Given the description of an element on the screen output the (x, y) to click on. 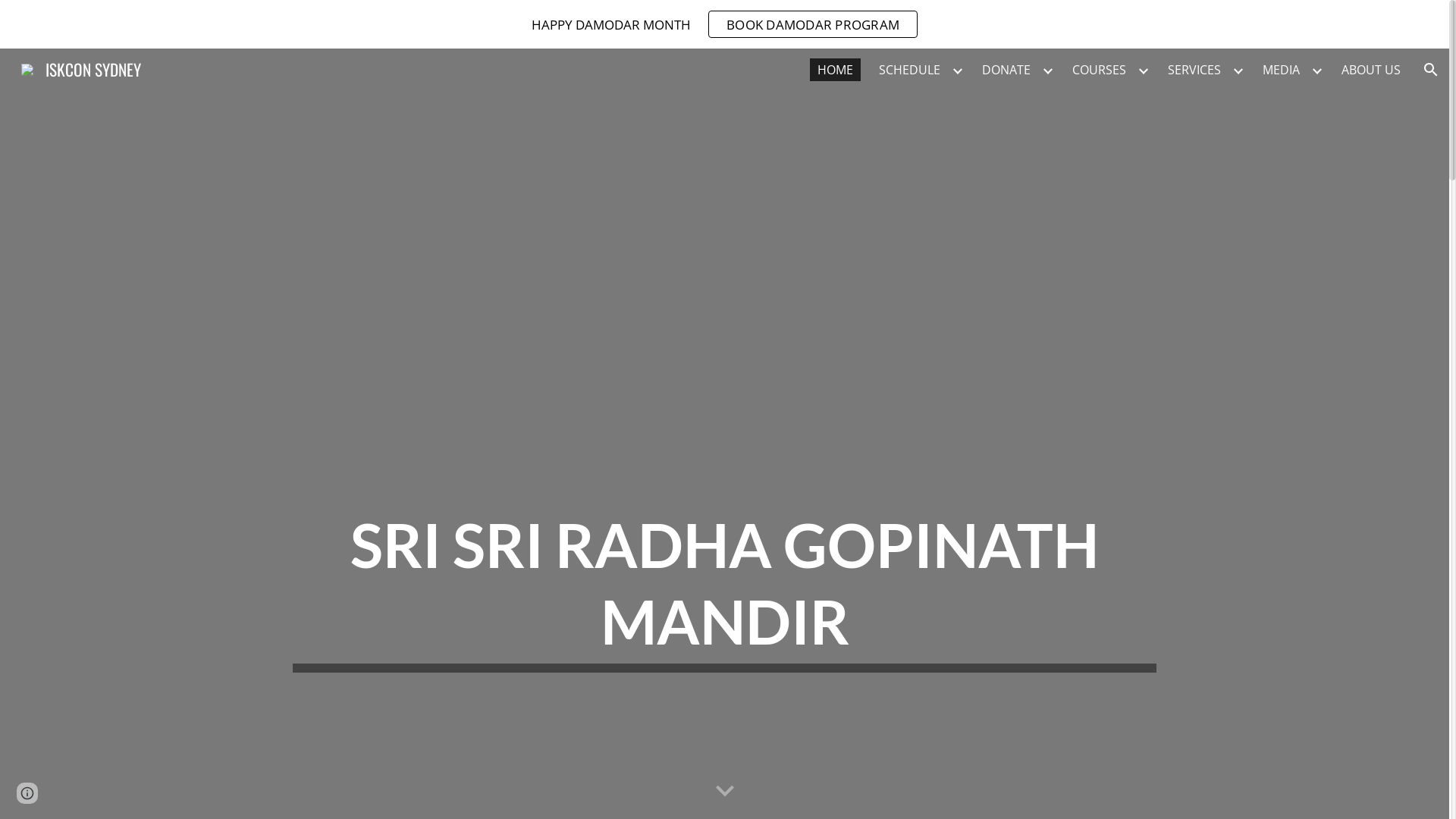
Expand/Collapse Element type: hover (956, 69)
Expand/Collapse Element type: hover (1316, 69)
SERVICES Element type: text (1194, 69)
ISKCON SYDNEY Element type: text (81, 66)
Expand/Collapse Element type: hover (1047, 69)
COURSES Element type: text (1098, 69)
Expand/Collapse Element type: hover (1237, 69)
Expand/Collapse Element type: hover (1142, 69)
HOME Element type: text (834, 69)
SCHEDULE Element type: text (909, 69)
MEDIA Element type: text (1281, 69)
DONATE Element type: text (1006, 69)
ABOUT US Element type: text (1370, 69)
BOOK DAMODAR PROGRAM Element type: text (812, 24)
